Given the description of an element on the screen output the (x, y) to click on. 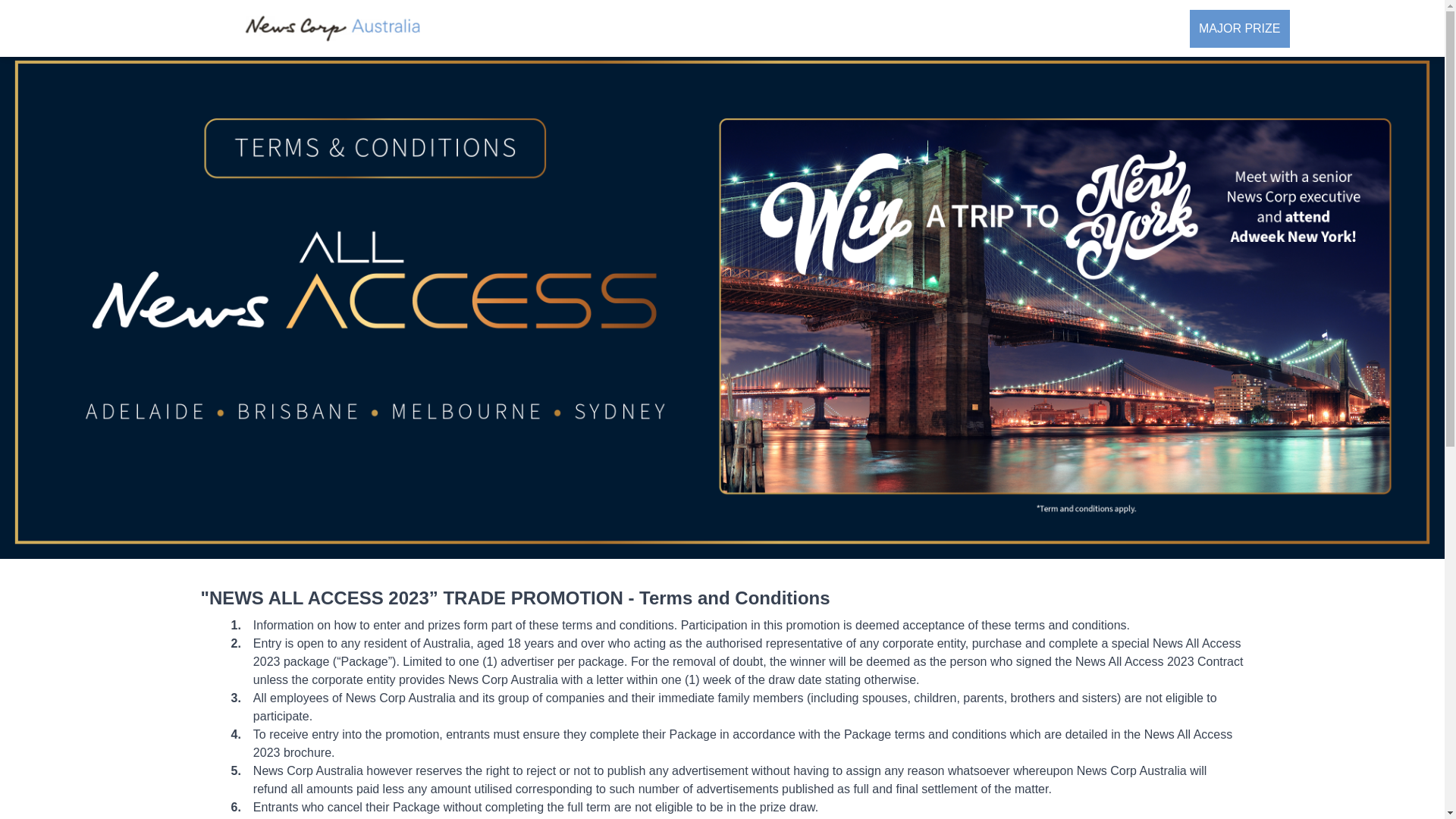
MAJOR PRIZE Element type: text (1239, 28)
